Given the description of an element on the screen output the (x, y) to click on. 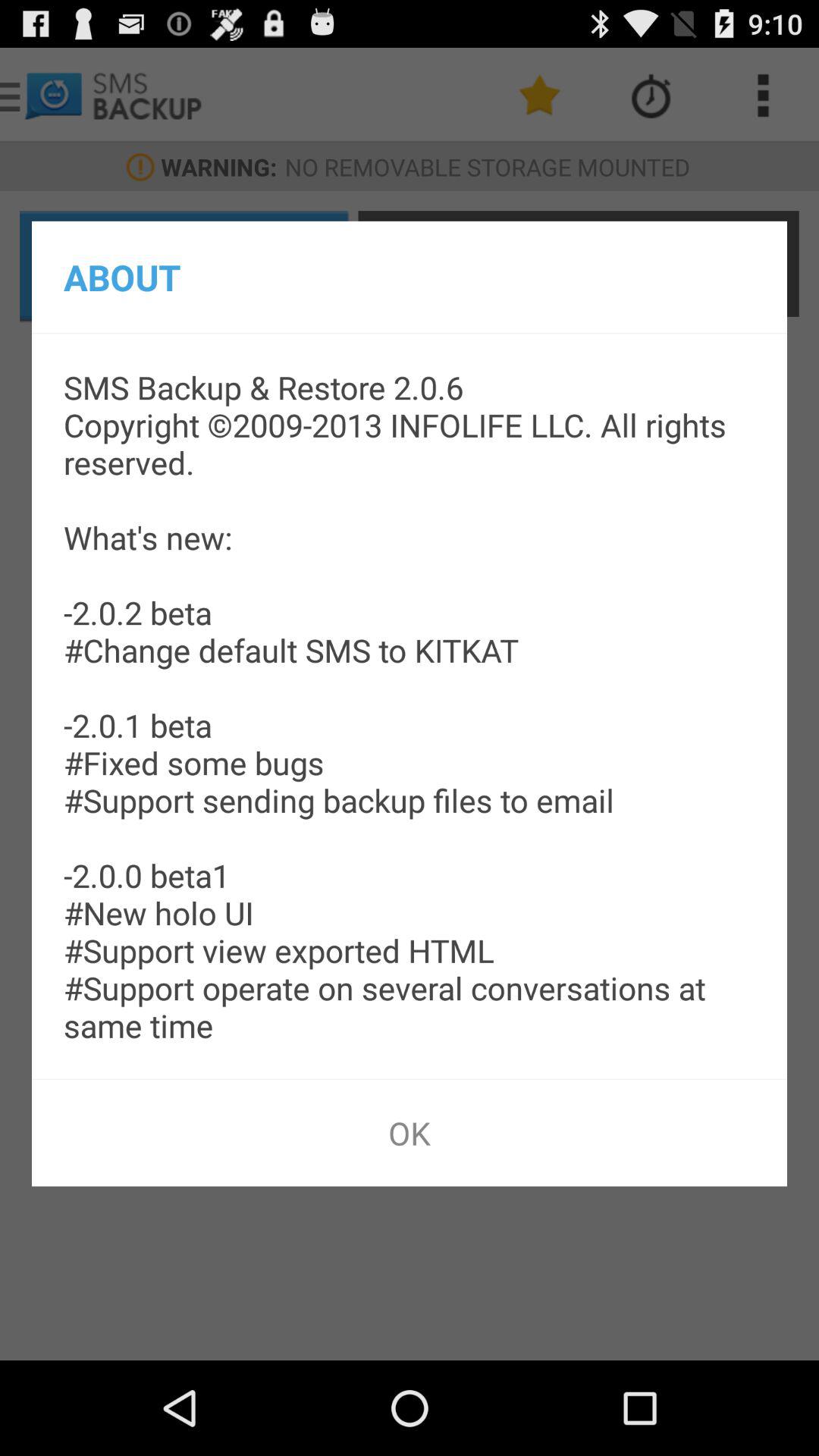
select app below the sms backup restore icon (409, 1132)
